Given the description of an element on the screen output the (x, y) to click on. 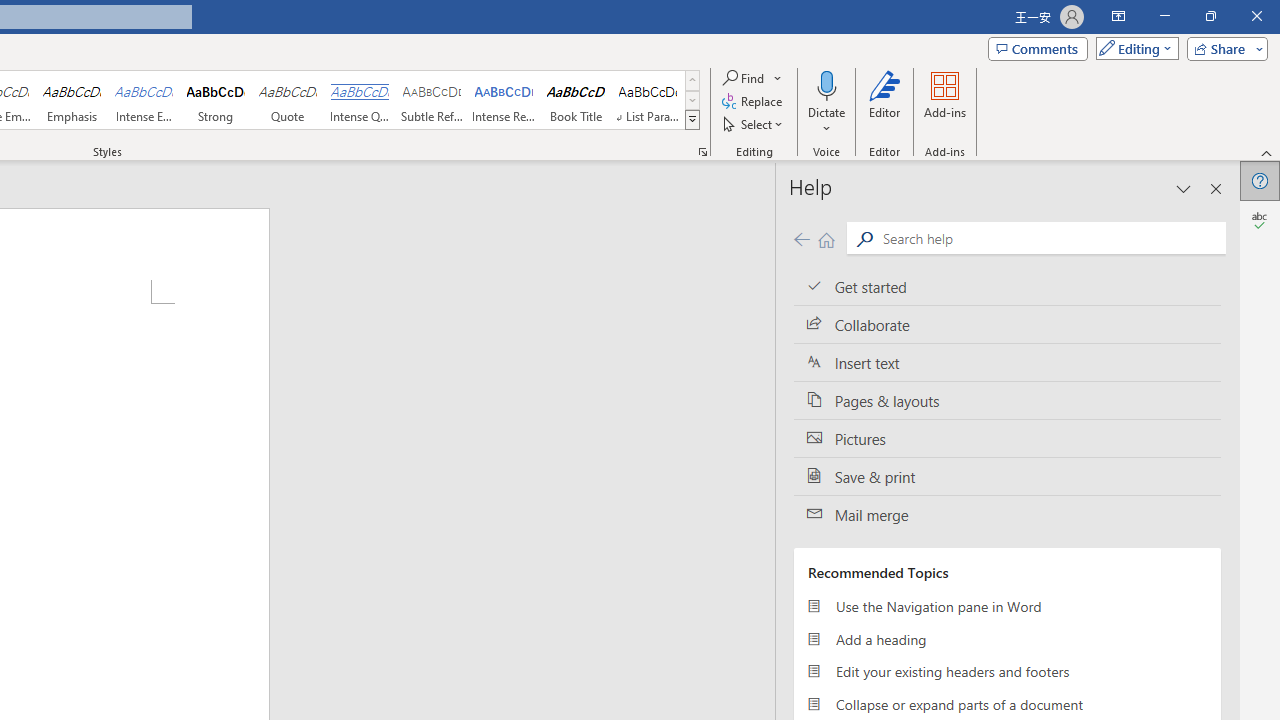
Quote (287, 100)
Get started (1007, 286)
Edit your existing headers and footers (1007, 672)
Collaborate (1007, 325)
Pages & layouts (1007, 400)
